Given the description of an element on the screen output the (x, y) to click on. 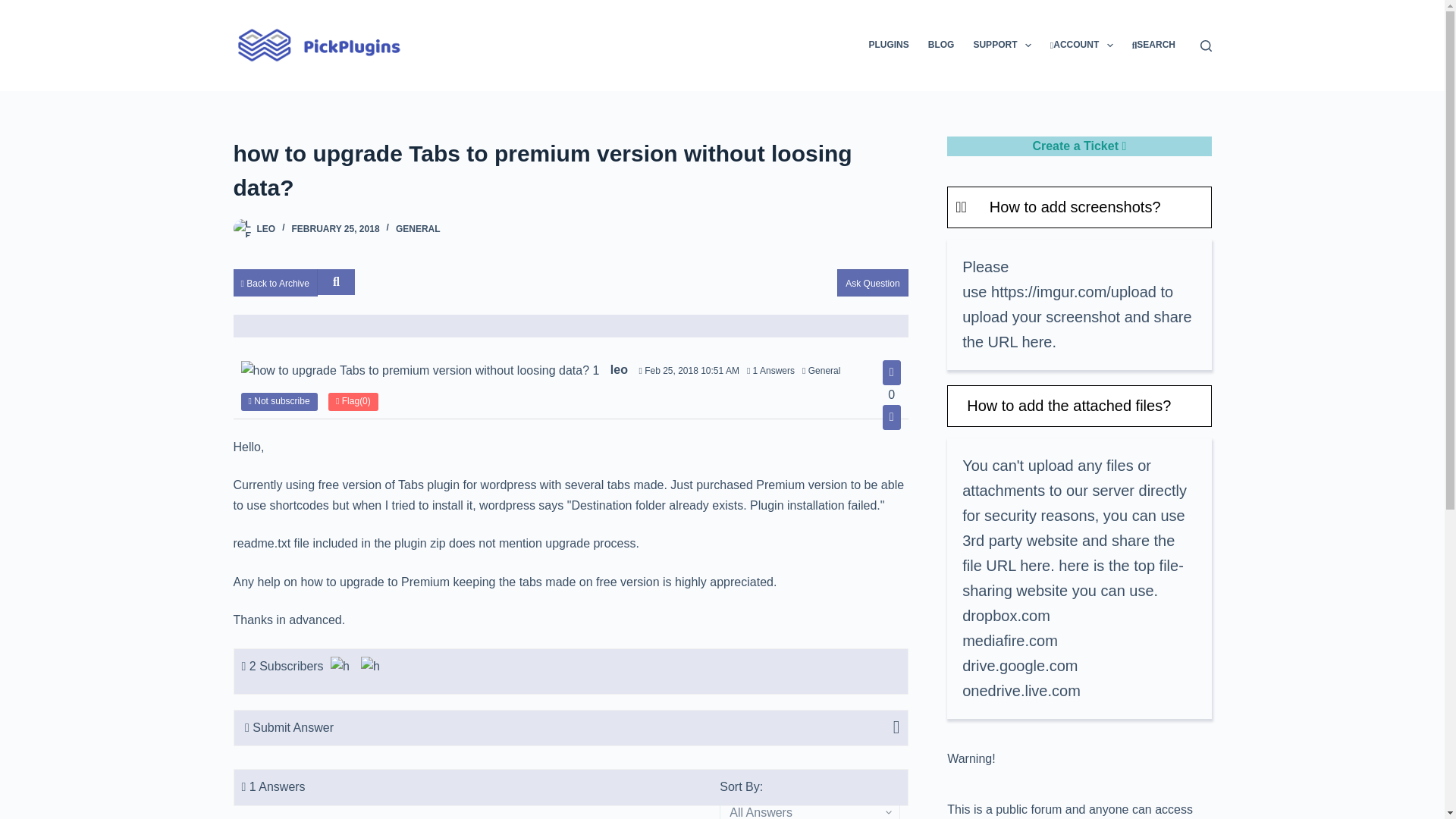
Posts by leo (265, 228)
PickPlugins (372, 667)
ACCOUNT (1081, 45)
leo (341, 667)
how to upgrade Tabs to premium version without loosing data? (570, 170)
Skip to content (15, 7)
